Given the description of an element on the screen output the (x, y) to click on. 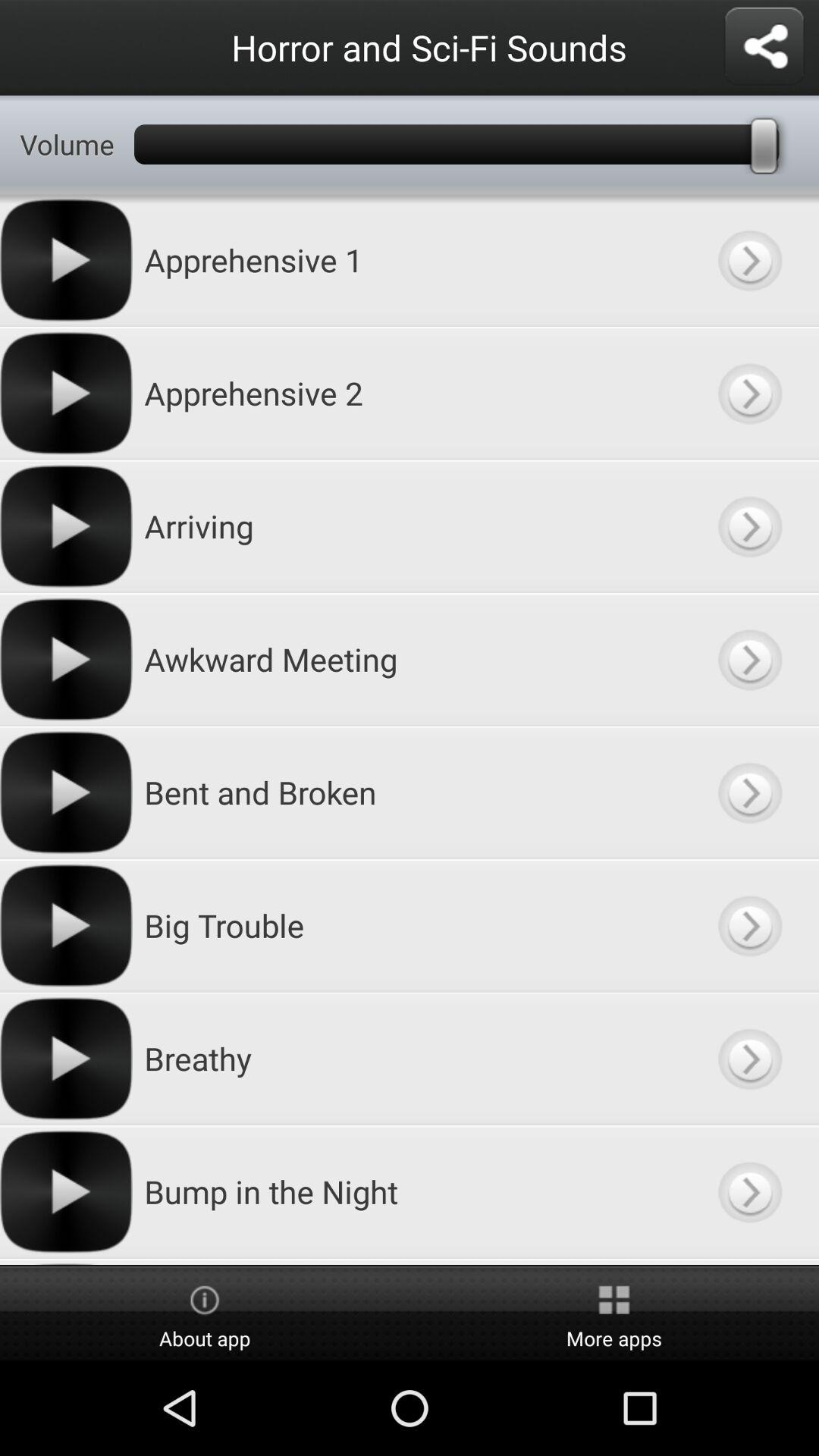
view category (749, 259)
